Given the description of an element on the screen output the (x, y) to click on. 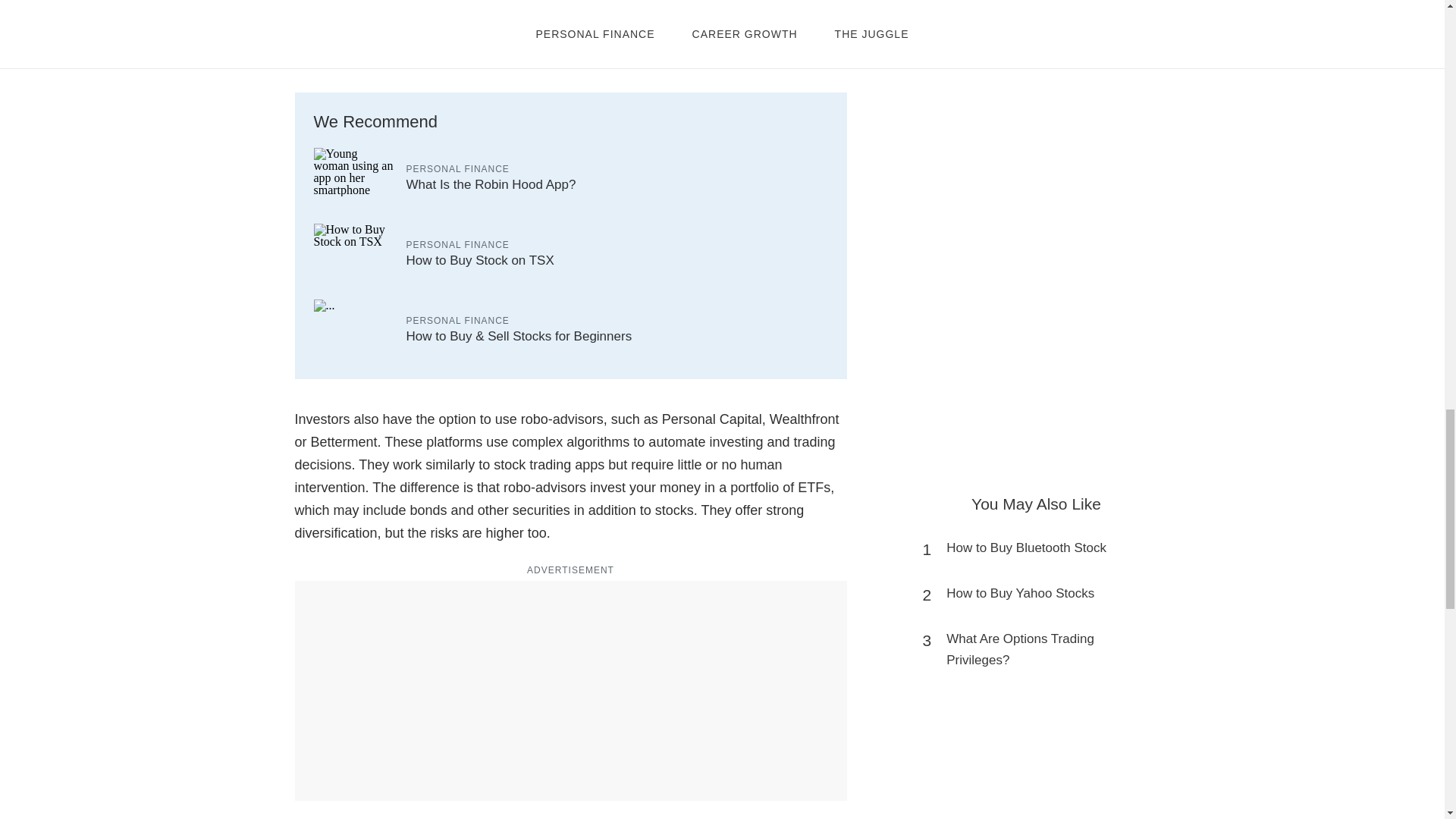
Forbes (673, 4)
How to Buy Yahoo Stocks (1020, 593)
How to Buy Bluetooth Stock (1026, 547)
What Are Options Trading Privileges? (1043, 649)
What Is the Robin Hood App? (491, 184)
